Given the description of an element on the screen output the (x, y) to click on. 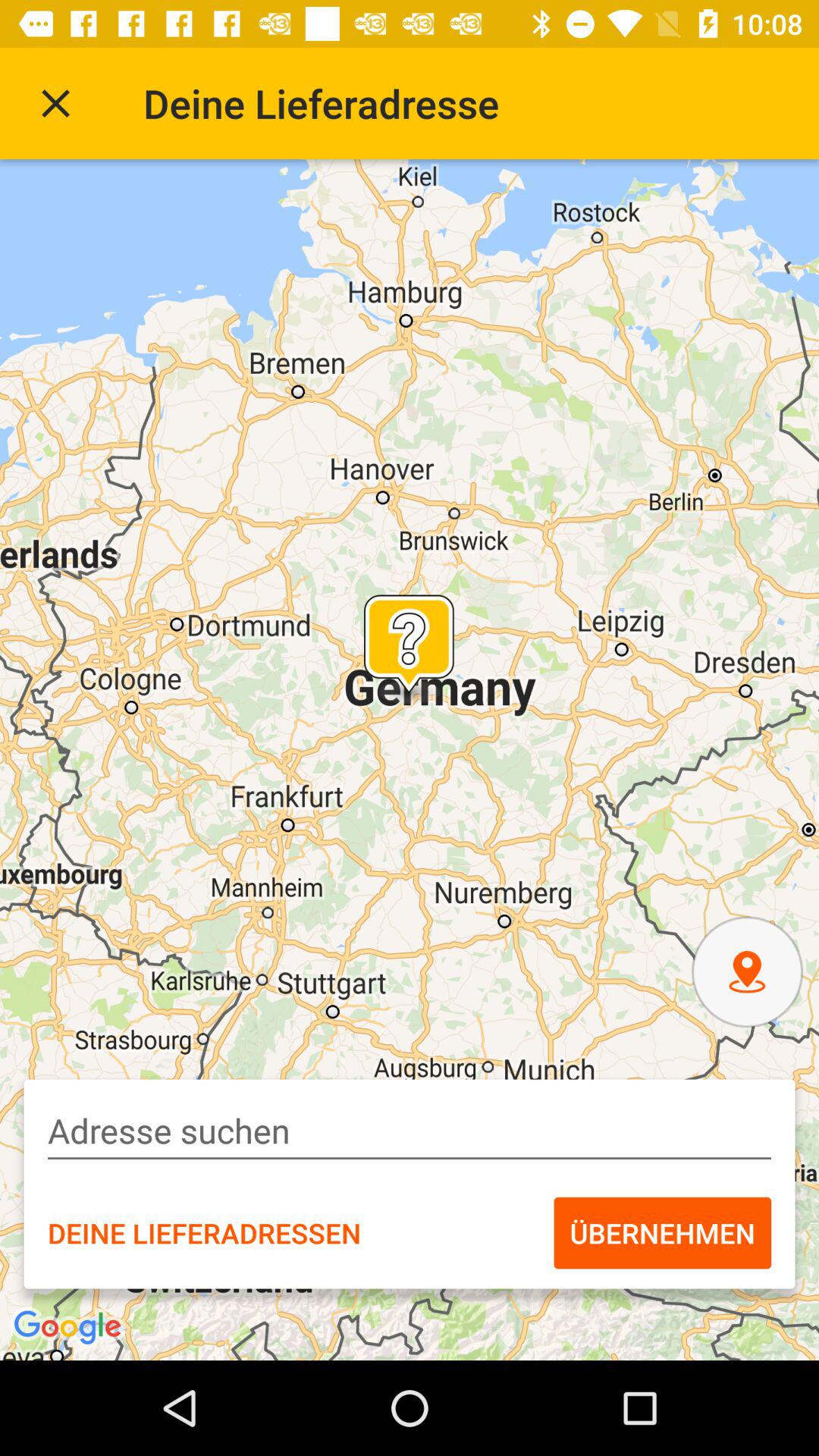
close screen option (55, 103)
